Given the description of an element on the screen output the (x, y) to click on. 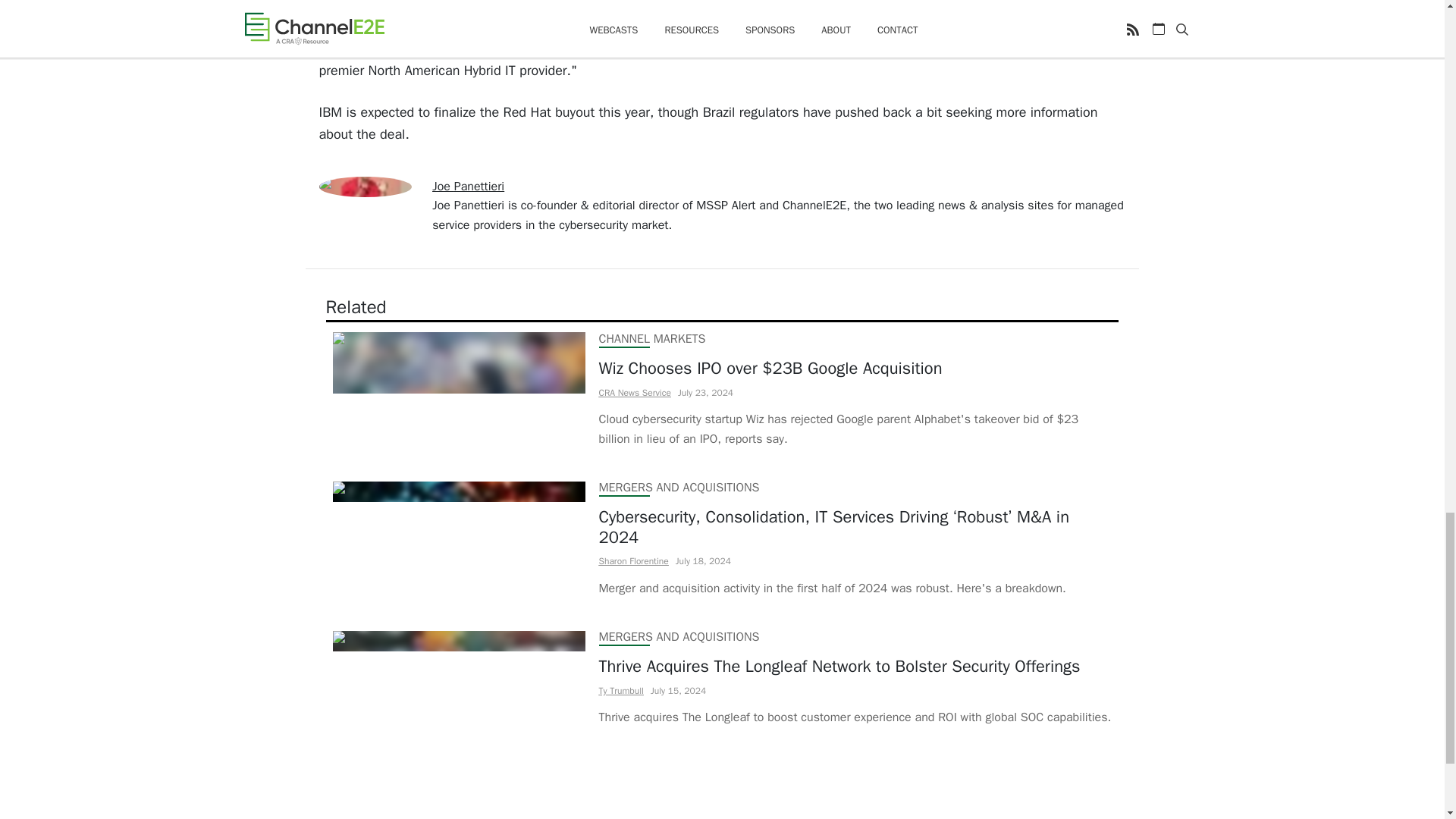
Joe Panettieri (467, 186)
Ty Trumbull (620, 690)
MERGERS AND ACQUISITIONS (679, 636)
CHANNEL MARKETS (652, 338)
CRA News Service (634, 392)
Sharon Florentine (633, 561)
MERGERS AND ACQUISITIONS (679, 487)
